Given the description of an element on the screen output the (x, y) to click on. 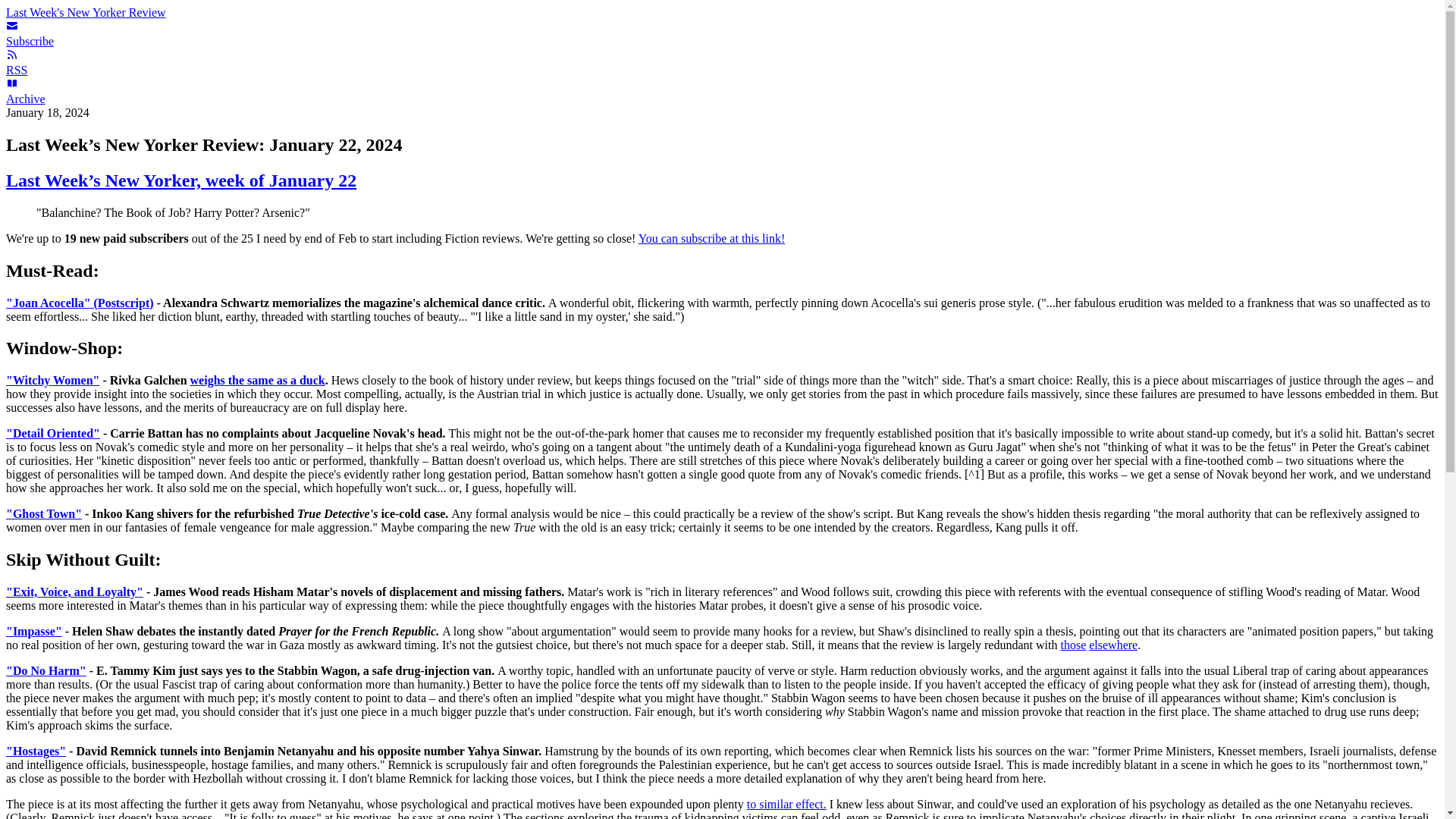
"Hostages" (35, 750)
"Impasse" (33, 631)
elsewhere (1113, 644)
You can subscribe at this link! (711, 237)
Last Week's New Yorker Review (85, 11)
"Exit, Voice, and Loyalty" (73, 591)
to similar effect. (786, 803)
those (1072, 644)
weighs the same as a duck (257, 379)
"Do No Harm" (45, 670)
